Given the description of an element on the screen output the (x, y) to click on. 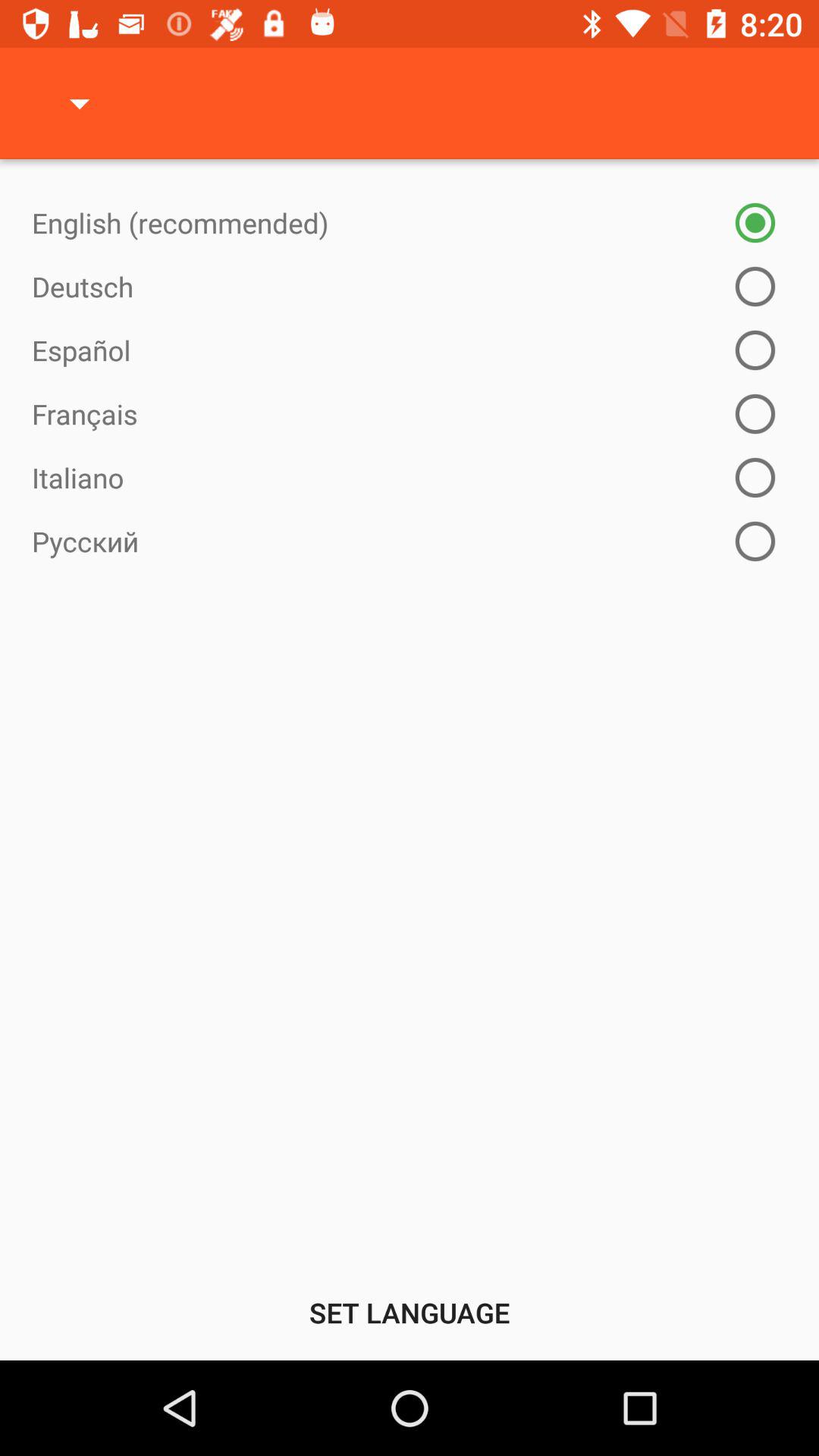
swipe until set language item (409, 1312)
